Given the description of an element on the screen output the (x, y) to click on. 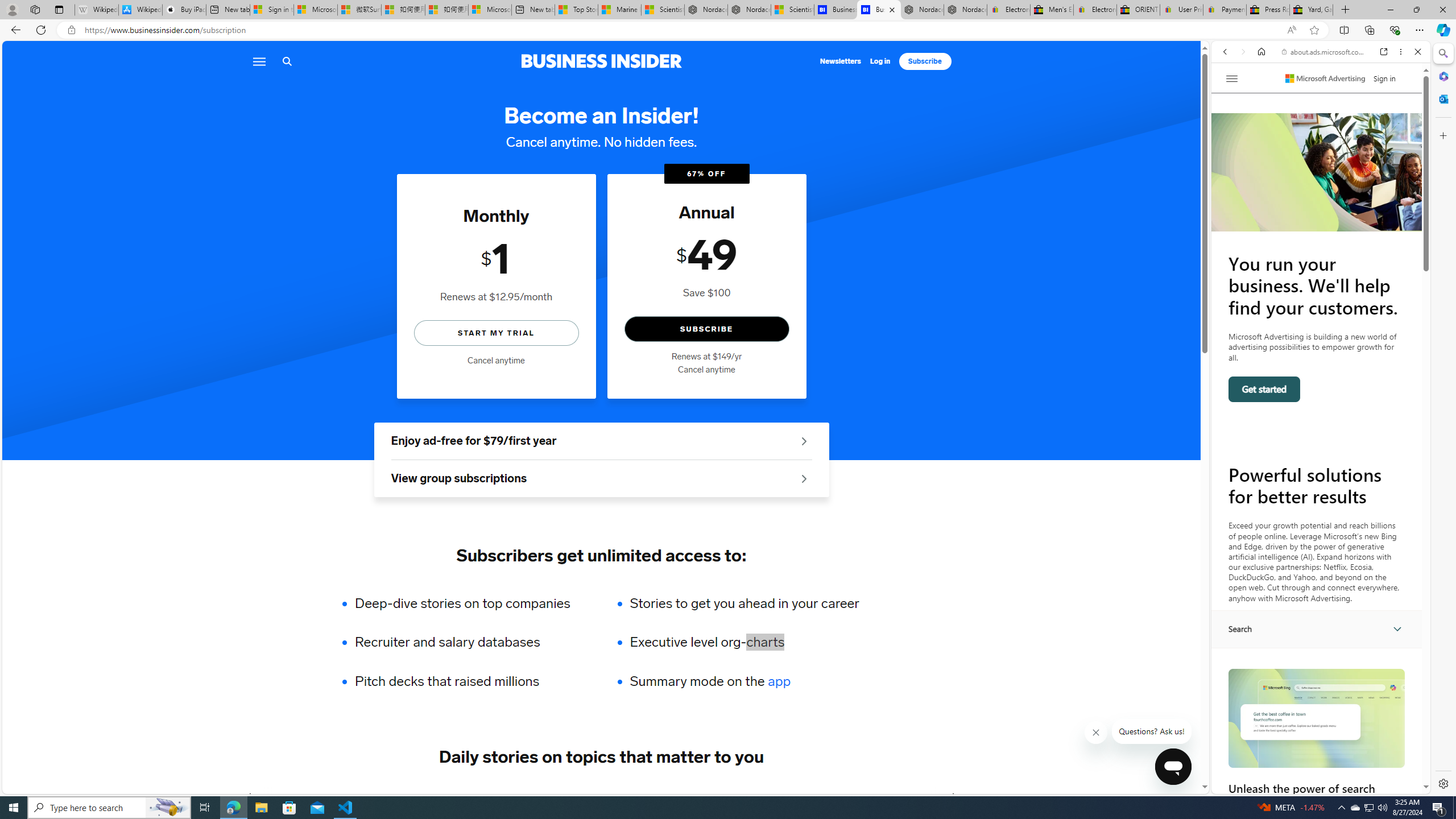
Open messaging window (1172, 766)
Minimize Search pane (1442, 53)
Business Insider logo (601, 60)
Executive level org-charts (743, 642)
Search icon (286, 61)
